Given the description of an element on the screen output the (x, y) to click on. 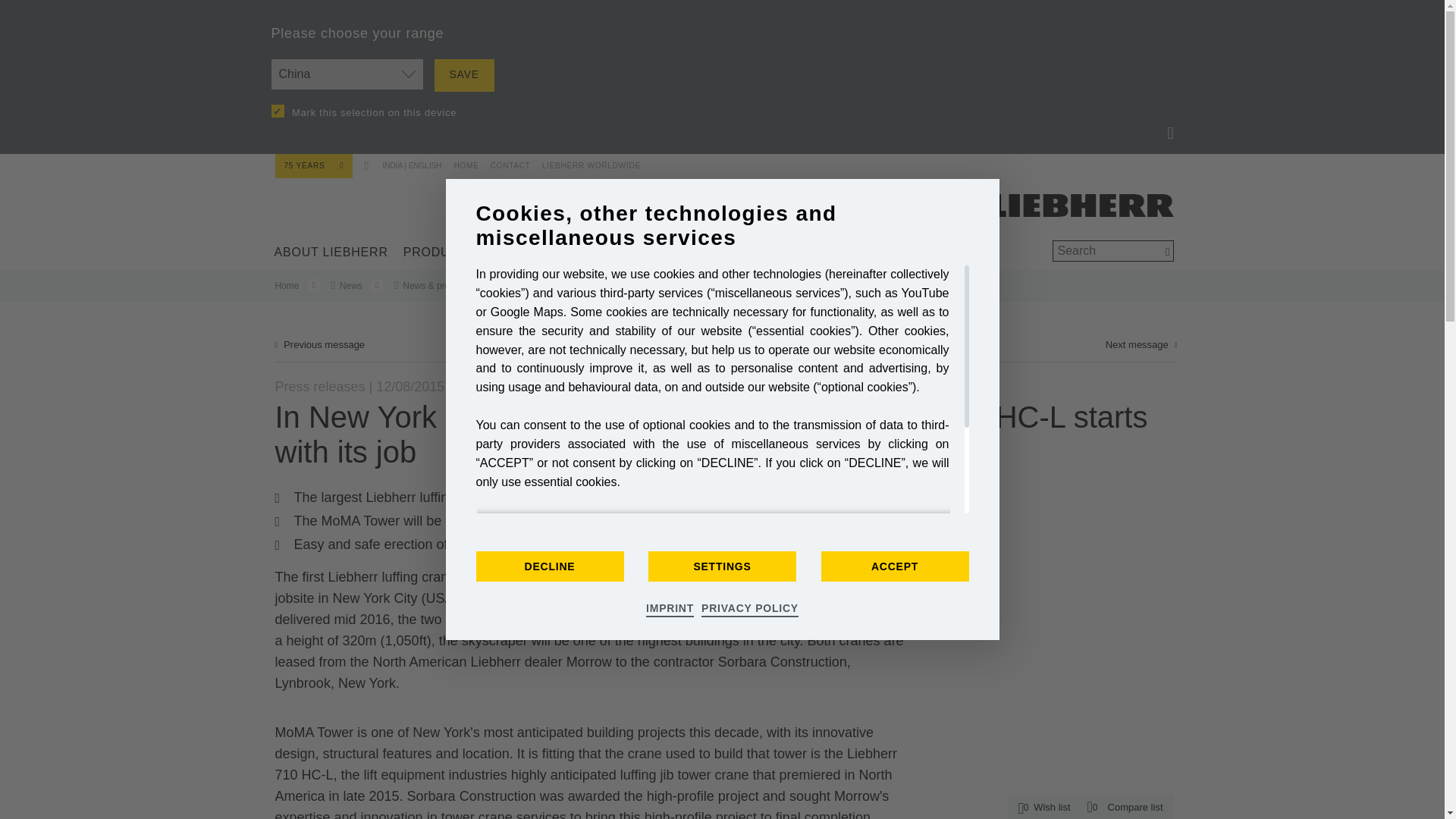
on (276, 110)
LIEBHERR WORLDWIDE (585, 162)
ABOUT LIEBHERR (331, 251)
75 YEARS (313, 165)
About Liebherr (331, 251)
SAVE (463, 74)
CONTACT (505, 162)
HOME (464, 162)
